Given the description of an element on the screen output the (x, y) to click on. 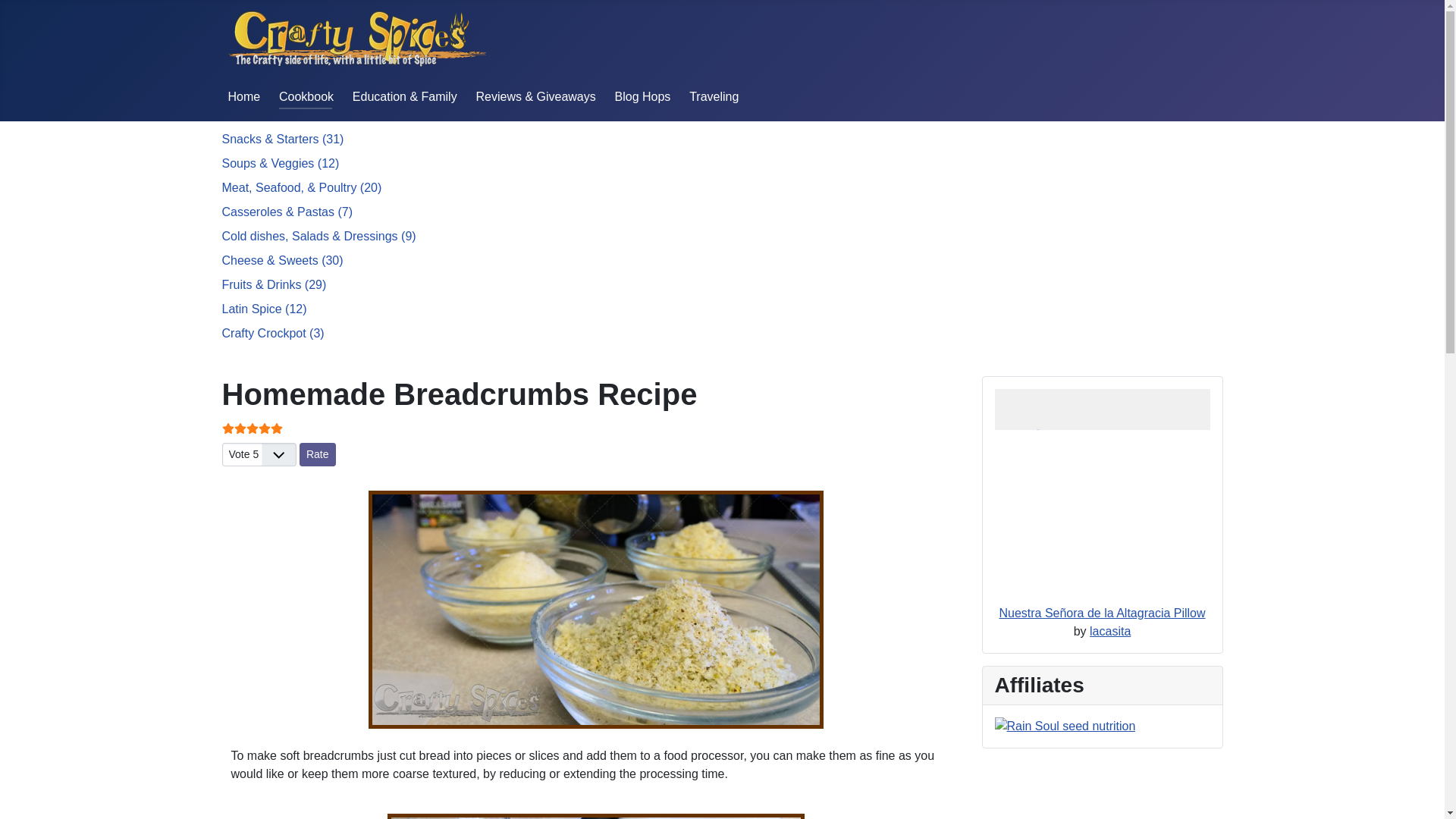
Homemade Breadcrumbs  (596, 609)
Rate (317, 454)
Rate (317, 454)
 Soul Seed Nutrition Square (1064, 725)
lacasita (1110, 631)
Homemade Breadcrumbs  (595, 816)
Traveling (713, 96)
Home (243, 96)
Cookbook (306, 96)
Blog Hops (642, 96)
